Given the description of an element on the screen output the (x, y) to click on. 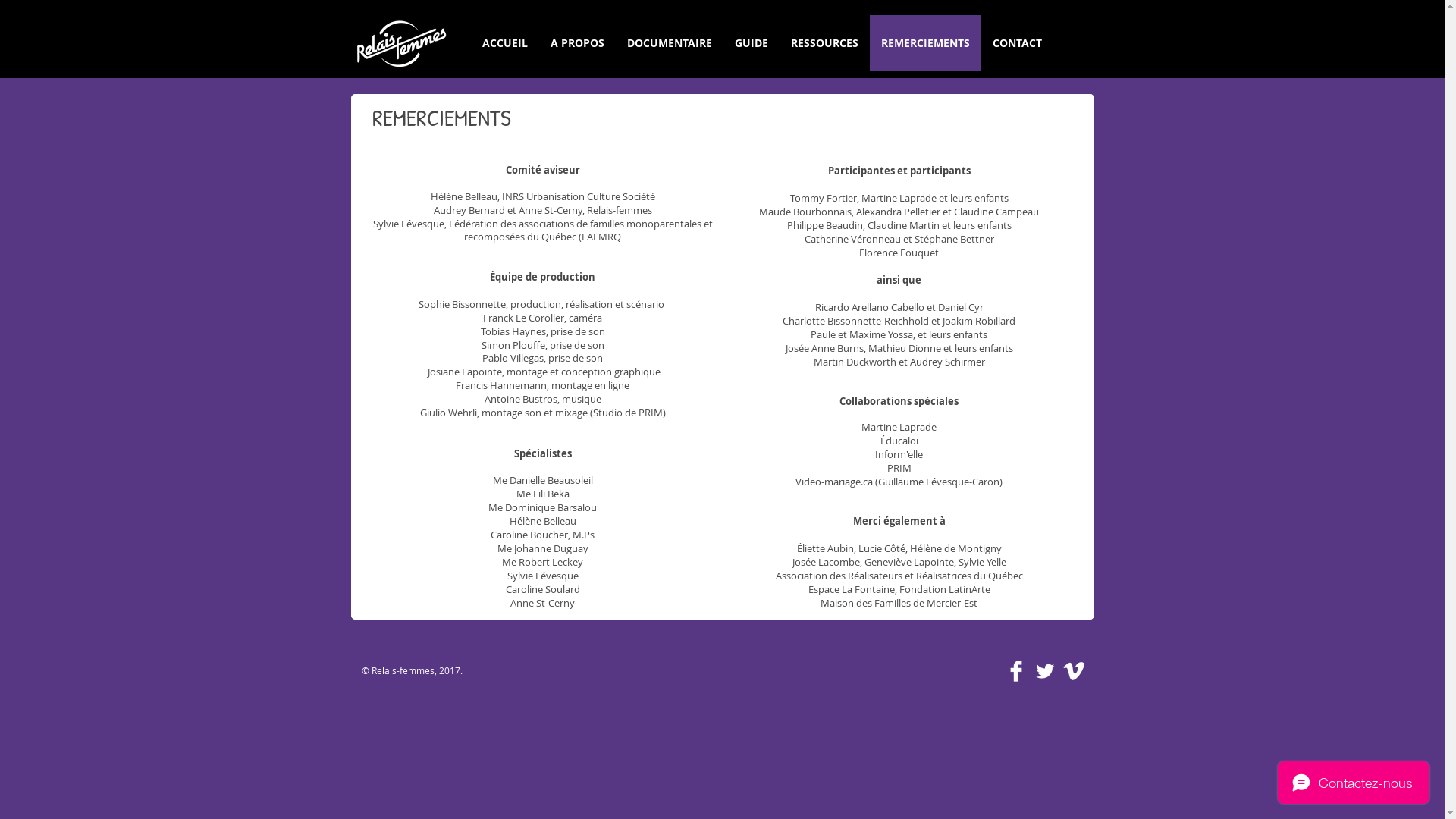
A PROPOS Element type: text (576, 43)
CONTACT Element type: text (1017, 43)
REMERCIEMENTS Element type: text (924, 43)
DOCUMENTAIRE Element type: text (669, 43)
ACCUEIL Element type: text (504, 43)
RESSOURCES Element type: text (824, 43)
Relais_Femmes_LOGO.png Element type: hover (399, 43)
GUIDE Element type: text (751, 43)
